Given the description of an element on the screen output the (x, y) to click on. 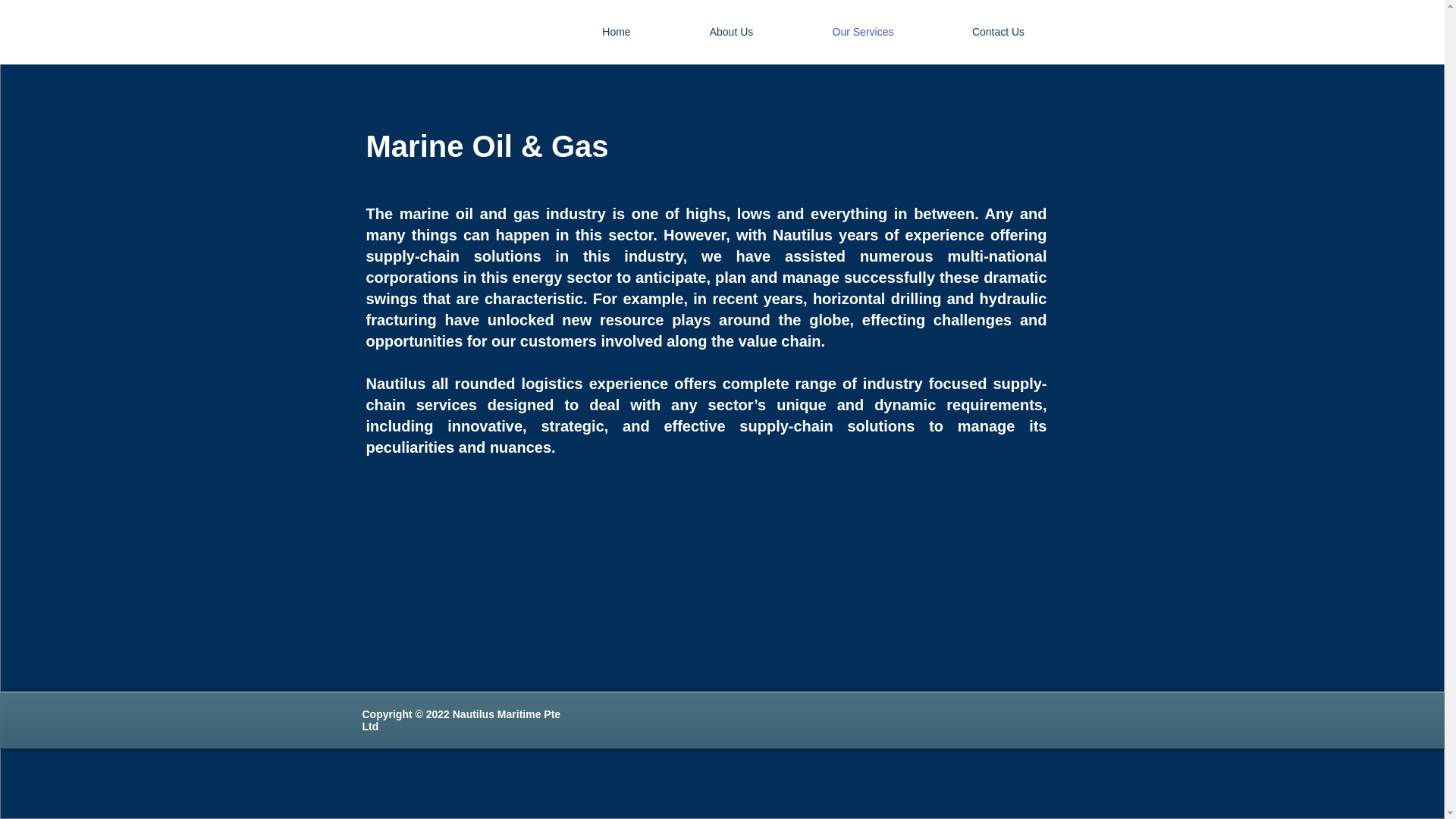
Our Services (863, 32)
Home (615, 32)
About Us (731, 32)
Contact Us (997, 32)
